Given the description of an element on the screen output the (x, y) to click on. 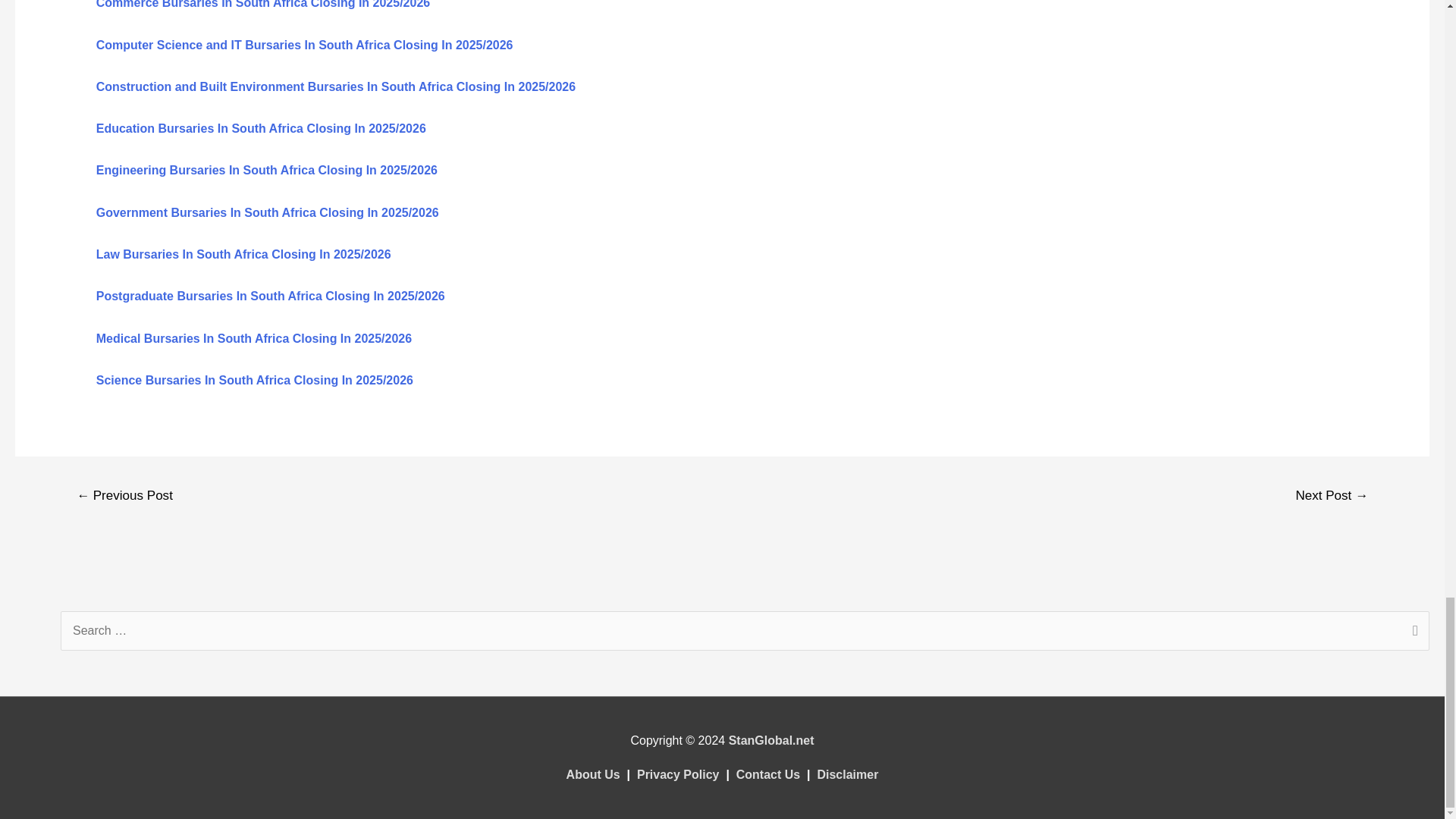
Privacy Policy (678, 774)
Contact Us (767, 774)
StanGlobal.net (771, 739)
About Us (593, 774)
Disclaimer (846, 774)
